Given the description of an element on the screen output the (x, y) to click on. 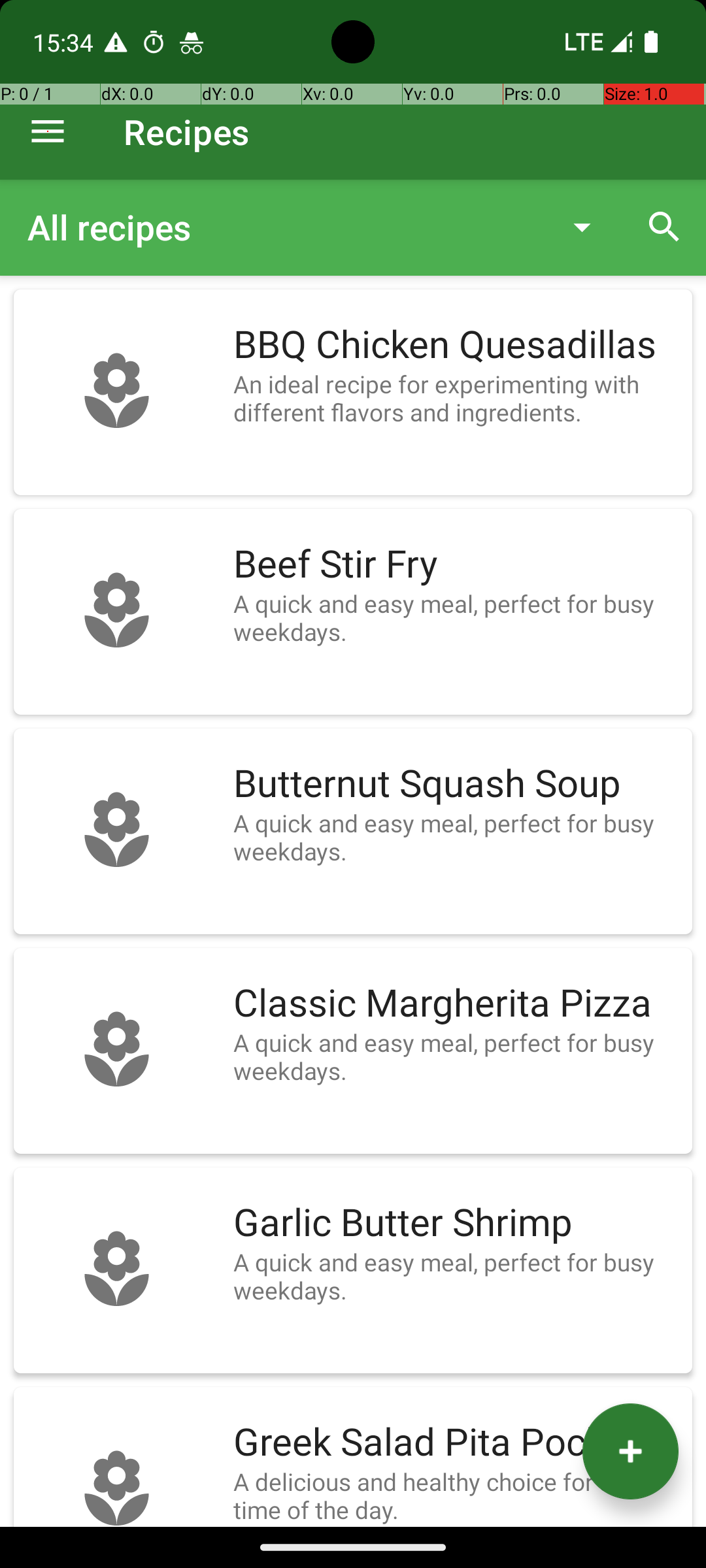
Garlic Butter Shrimp Element type: android.widget.TextView (455, 1222)
Greek Salad Pita Pockets Element type: android.widget.TextView (455, 1442)
